Given the description of an element on the screen output the (x, y) to click on. 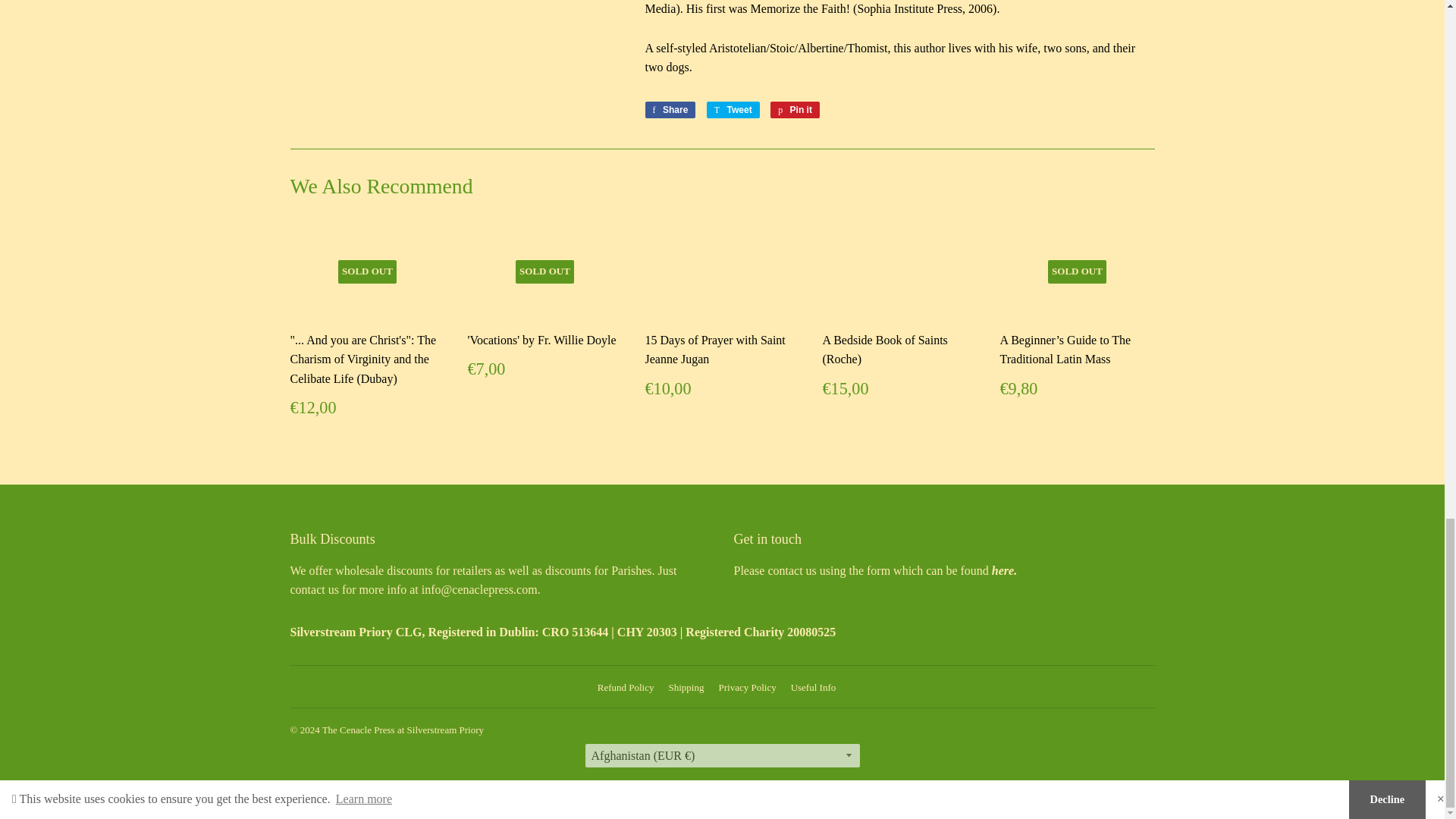
Tweet on Twitter (733, 109)
Share on Facebook (670, 109)
Pin on Pinterest (794, 109)
